Given the description of an element on the screen output the (x, y) to click on. 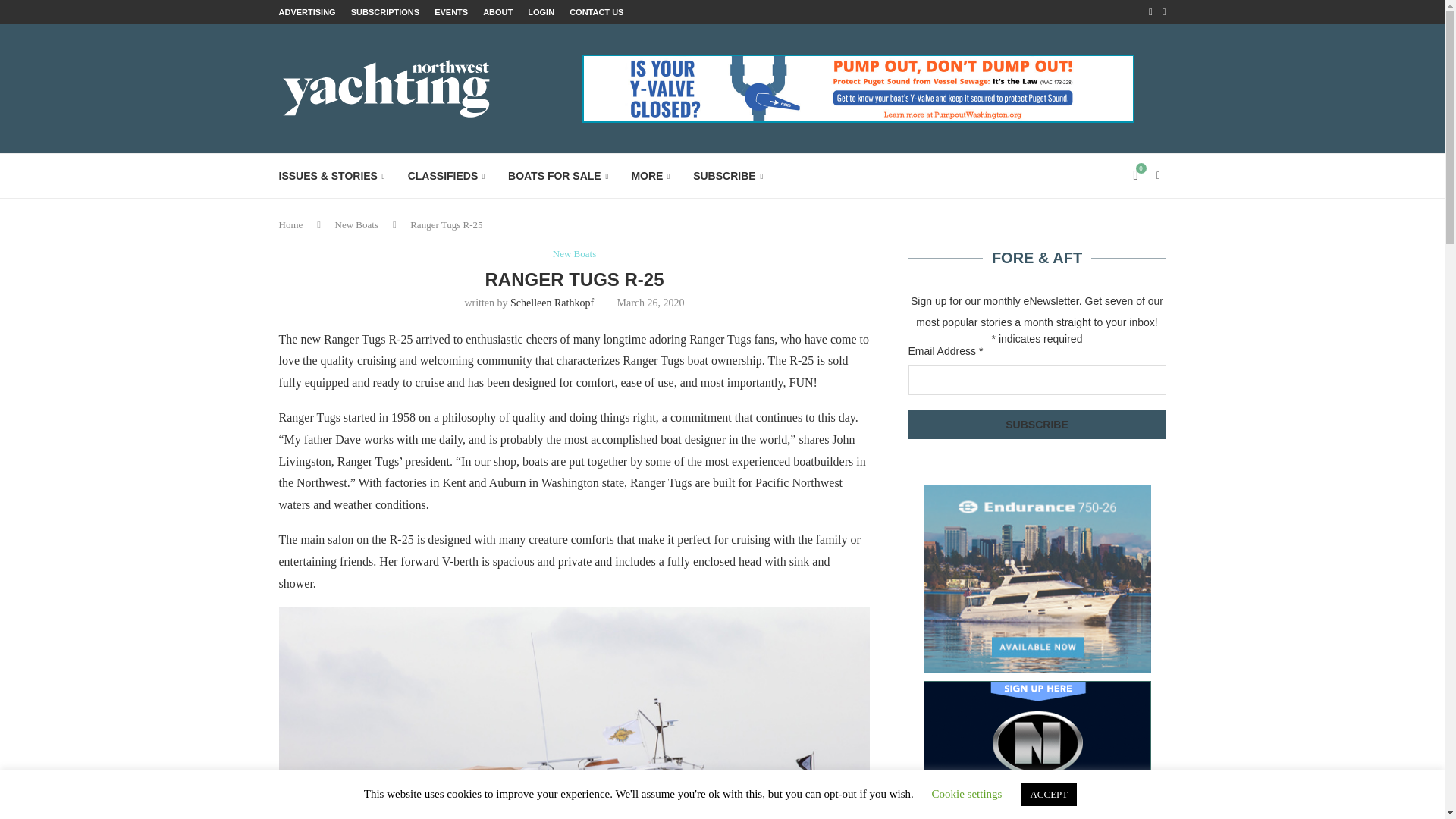
EVENTS (450, 12)
ABOUT (497, 12)
ADVERTISING (307, 12)
BOATS FOR SALE (558, 176)
LOGIN (540, 12)
Subscribe (1037, 424)
View your shopping cart (1135, 175)
CLASSIFIEDS (445, 176)
MORE (649, 176)
SUBSCRIPTIONS (384, 12)
CONTACT US (596, 12)
